Given the description of an element on the screen output the (x, y) to click on. 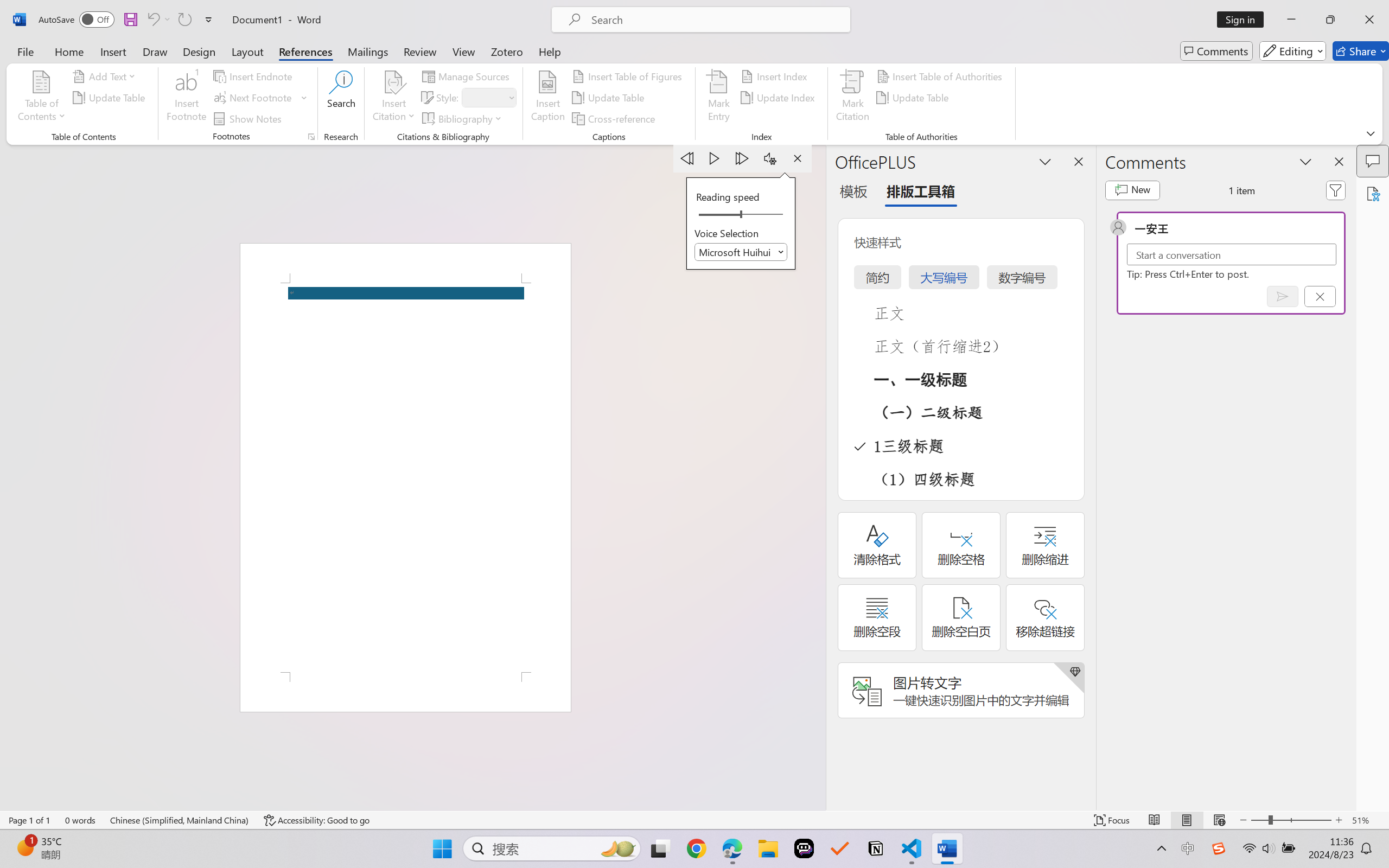
Page right (765, 214)
Mark Citation... (852, 97)
Add Text (106, 75)
Filter (1335, 190)
Reading speed (740, 214)
Accessibility Assistant (1373, 193)
Next Footnote (253, 97)
